Given the description of an element on the screen output the (x, y) to click on. 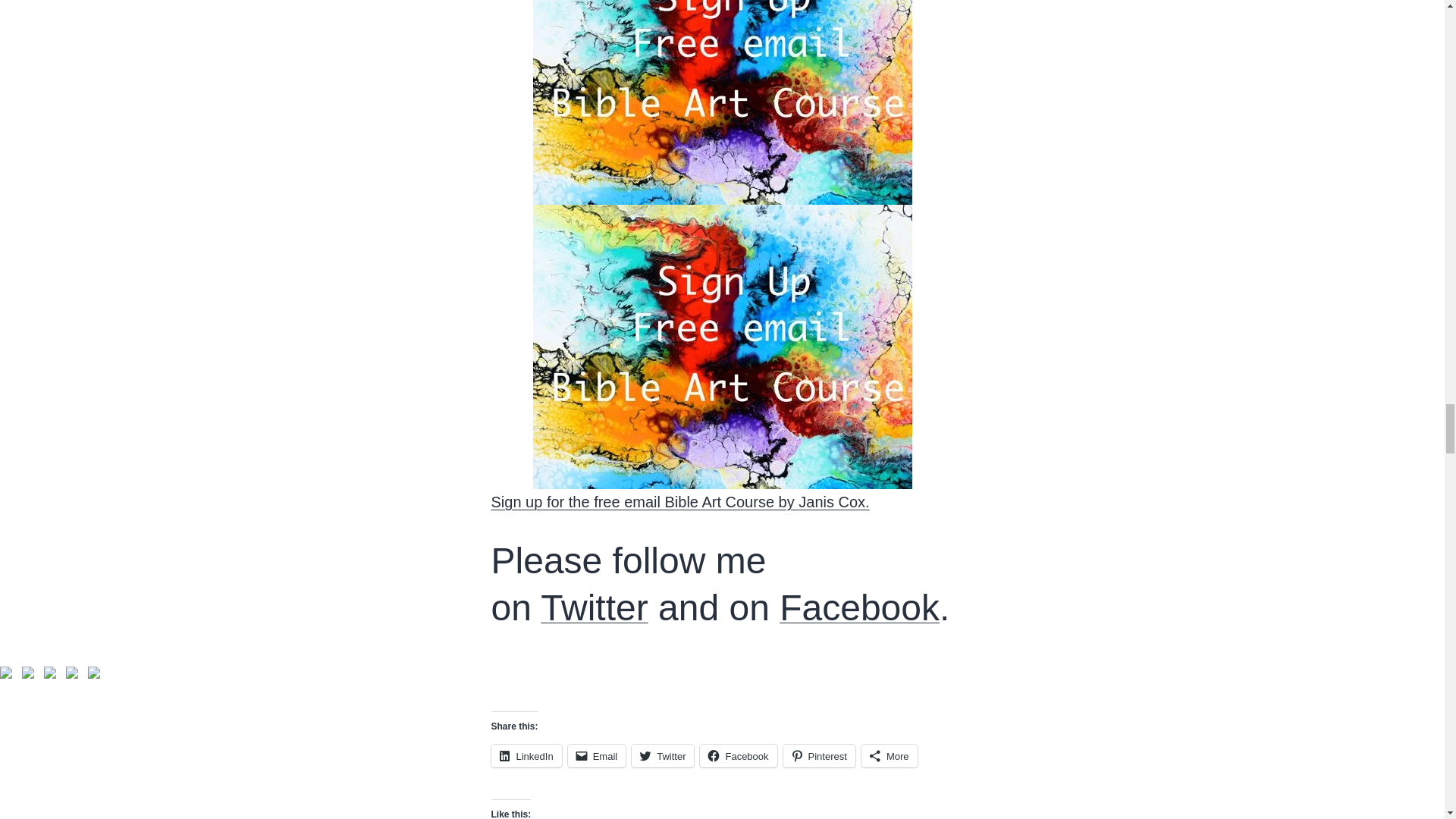
Twitter (593, 608)
Twitter (662, 755)
Janis Cox (71, 672)
Click to email a link to a friend (596, 755)
Facebook (738, 755)
Click to share on Twitter (662, 755)
More (889, 755)
Facebook (858, 608)
Author Janis Cox (49, 672)
Author Janis Cox (93, 672)
